Given the description of an element on the screen output the (x, y) to click on. 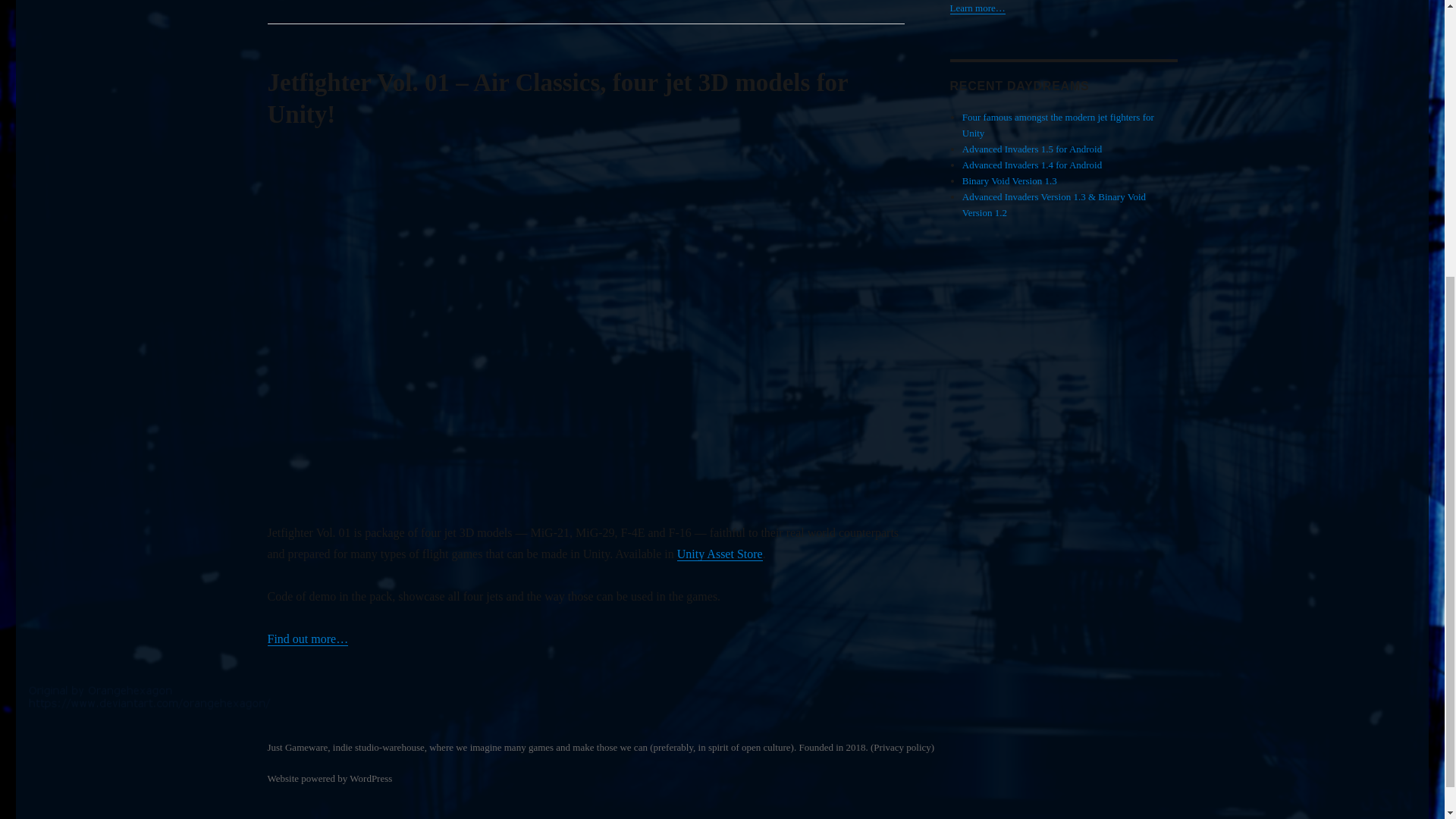
Unity Asset Store (719, 553)
Advanced Invaders 1.4 for Android (1032, 164)
Binary Void Version 1.3 (1009, 180)
Advanced Invaders 1.5 for Android (1032, 148)
Website powered by WordPress (328, 778)
Four famous amongst the modern jet fighters for Unity (1058, 124)
